Given the description of an element on the screen output the (x, y) to click on. 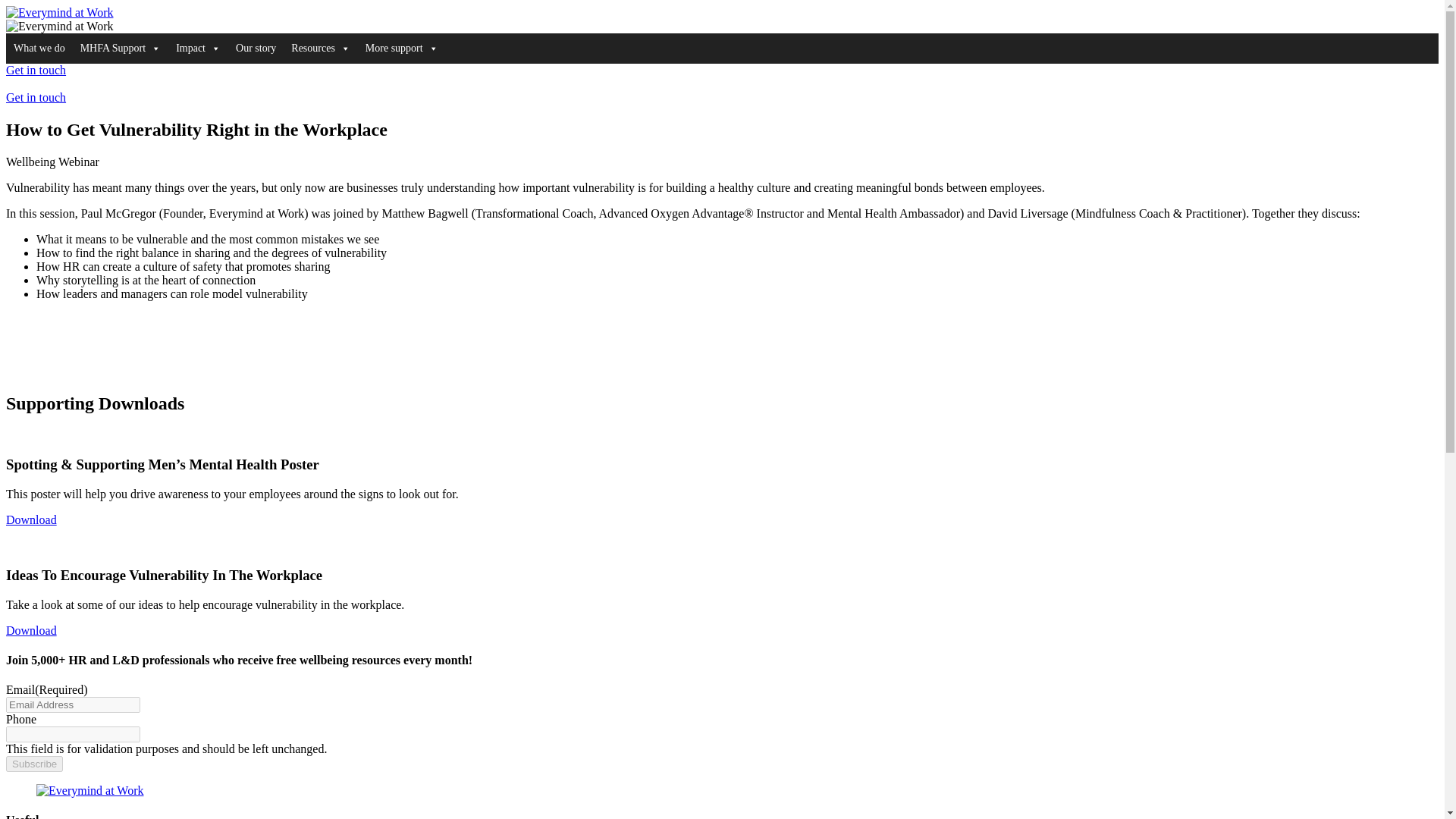
More support (401, 48)
MHFA Support (120, 48)
Get in touch (35, 69)
What we do (38, 48)
Subscribe (33, 763)
Resources (320, 48)
Impact (198, 48)
Download (30, 519)
Subscribe (33, 763)
Download (30, 629)
Get in touch (35, 97)
Our story (255, 48)
